Given the description of an element on the screen output the (x, y) to click on. 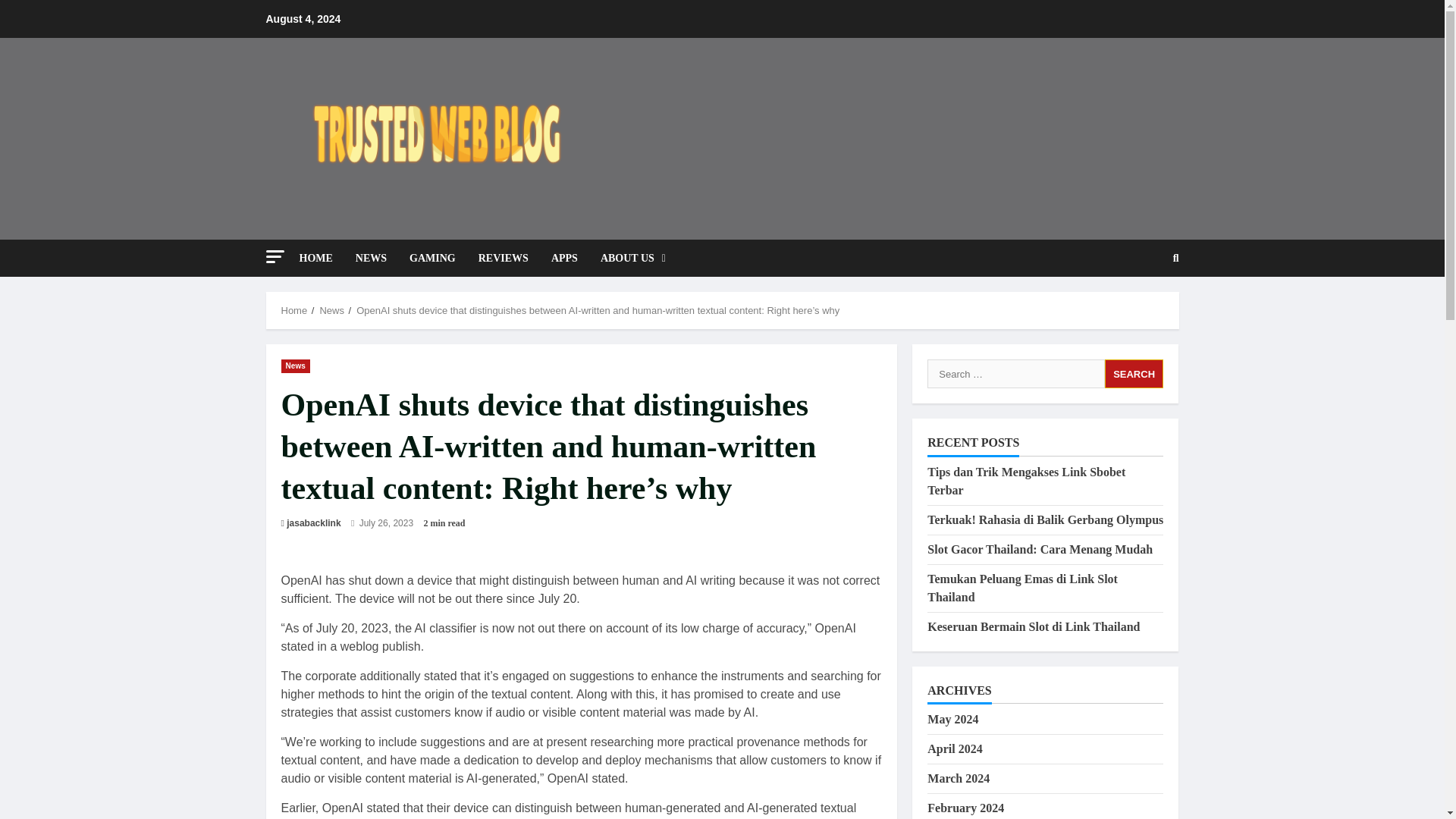
ABOUT US (627, 257)
Search (1176, 257)
Search (1139, 309)
REVIEWS (503, 257)
APPS (564, 257)
GAMING (432, 257)
Search (1134, 373)
NEWS (370, 257)
News (295, 366)
Search (1134, 373)
HOME (320, 257)
jasabacklink (313, 522)
Home (294, 310)
News (330, 310)
